Given the description of an element on the screen output the (x, y) to click on. 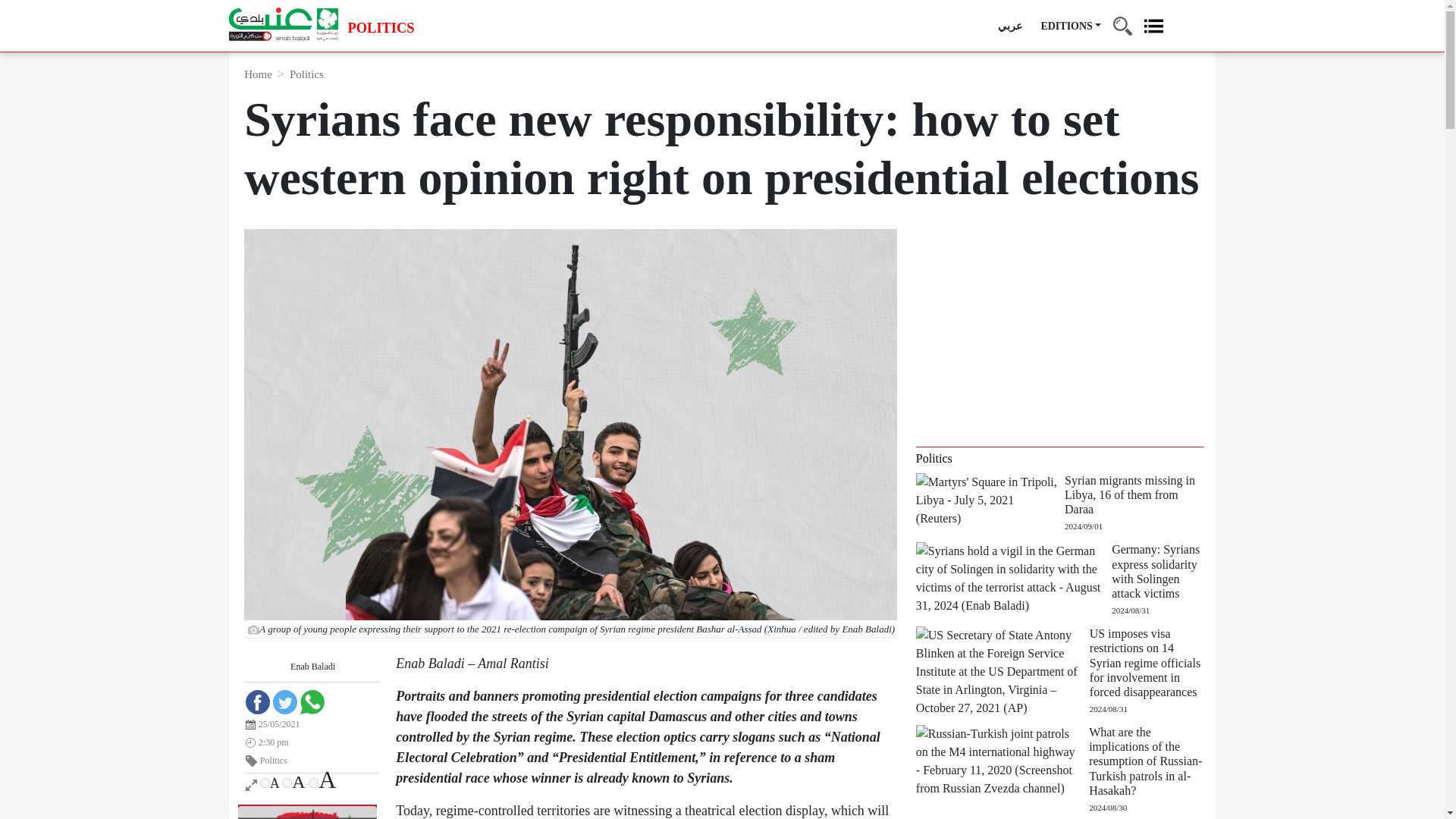
Syrian migrants missing in Libya, 16 of them from Daraa (989, 498)
on (313, 782)
on (264, 782)
on (287, 782)
POLITICS (381, 28)
Syrian migrants missing in Libya, 16 of them from Daraa (1134, 502)
EDITIONS (1070, 25)
logo (282, 24)
